Given the description of an element on the screen output the (x, y) to click on. 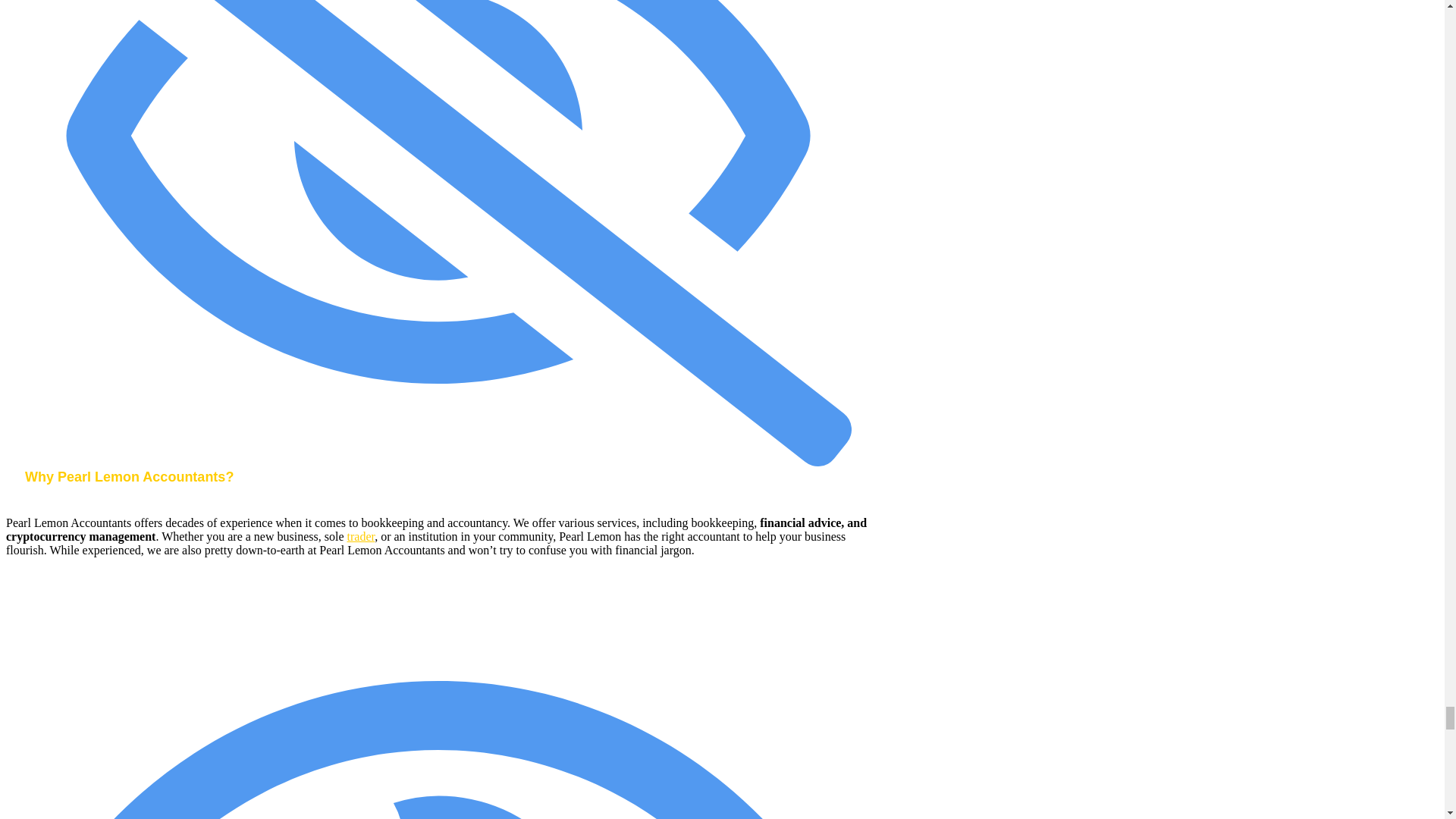
trader (361, 535)
